Given the description of an element on the screen output the (x, y) to click on. 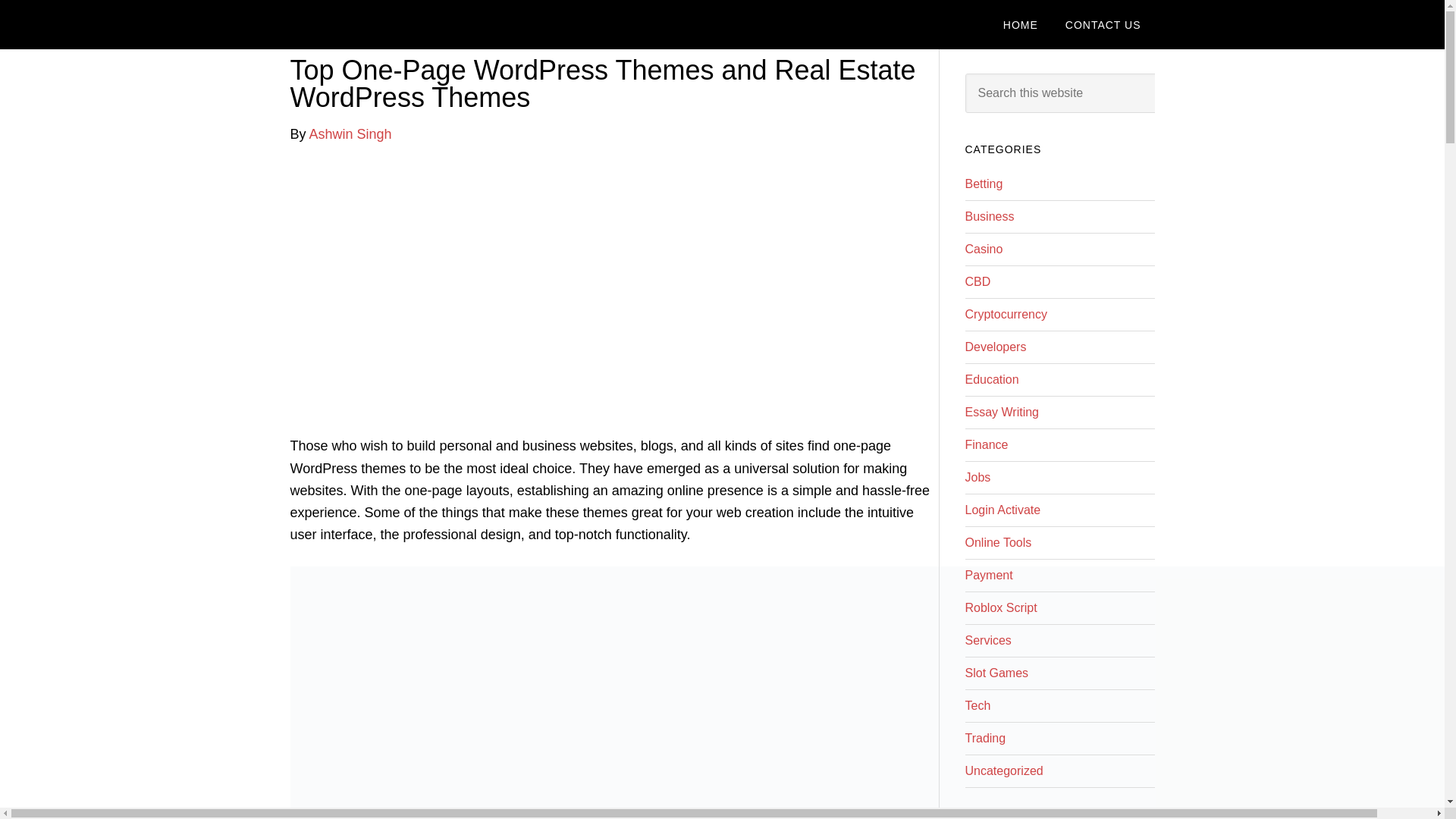
HOME (1020, 24)
Jobs (976, 477)
Tech (976, 705)
Services (986, 640)
Login Activate (1002, 509)
Finance (985, 444)
CBD (976, 281)
Business (988, 215)
